Given the description of an element on the screen output the (x, y) to click on. 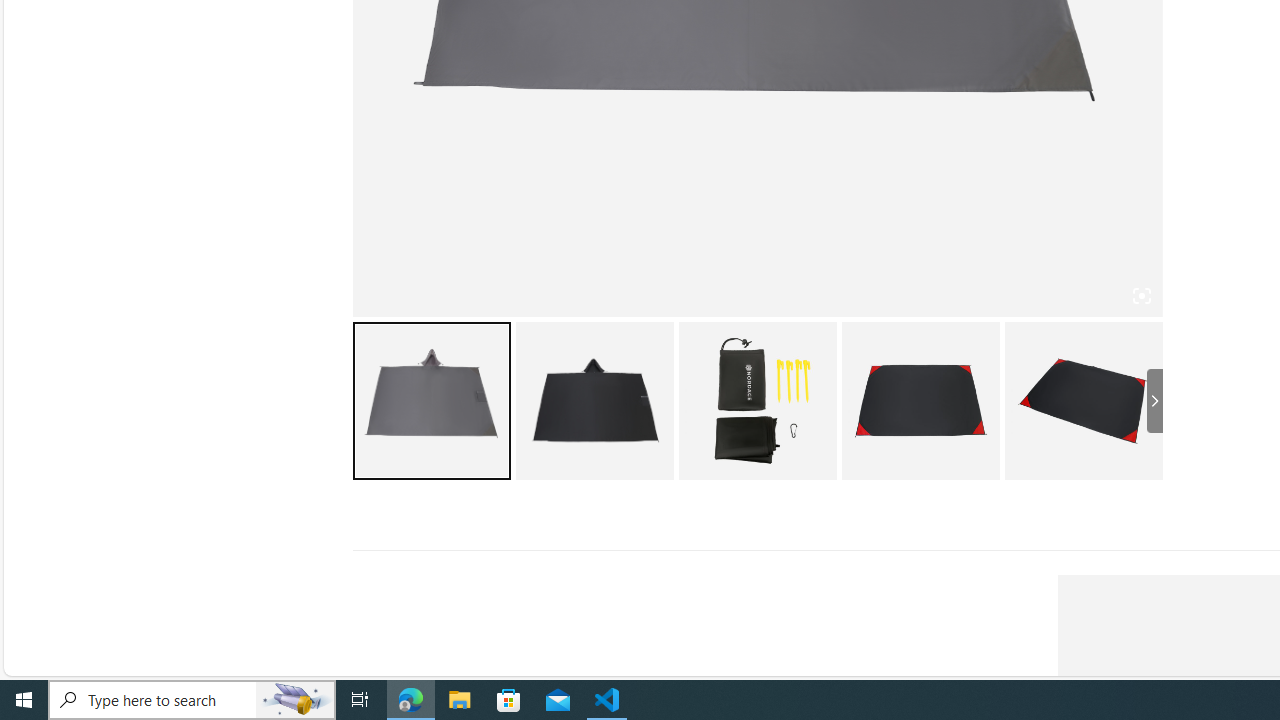
Class: iconic-woothumbs-fullscreen (1140, 296)
